Given the description of an element on the screen output the (x, y) to click on. 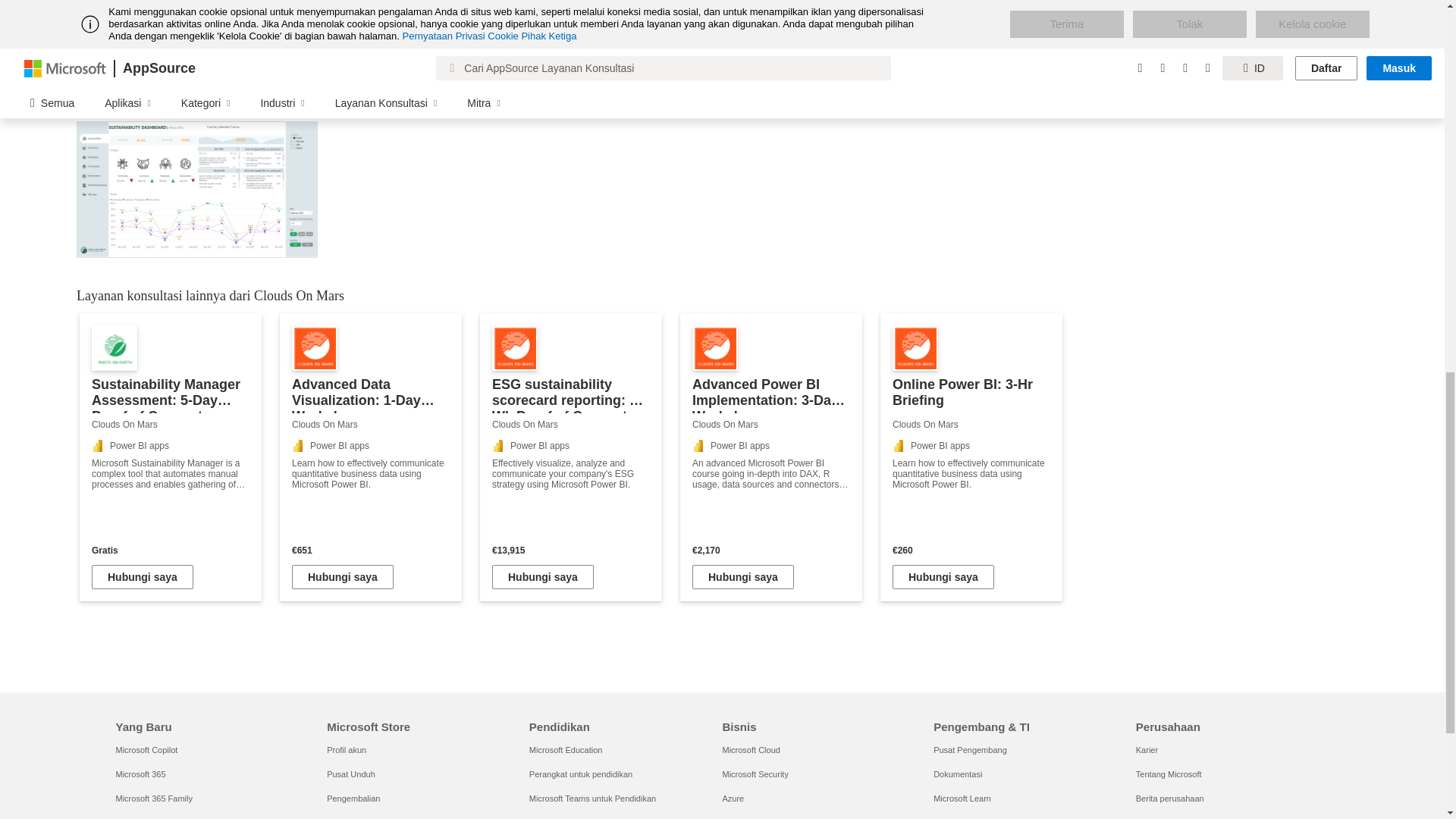
Hubungi saya (743, 576)
Hubungi saya (943, 576)
Microsoft 365 (140, 773)
Hubungi saya (342, 576)
Microsoft Copilot (146, 749)
Hubungi saya (543, 576)
Hubungi saya (142, 576)
Gratis (169, 550)
Microsoft 365 Family (153, 798)
